Given the description of an element on the screen output the (x, y) to click on. 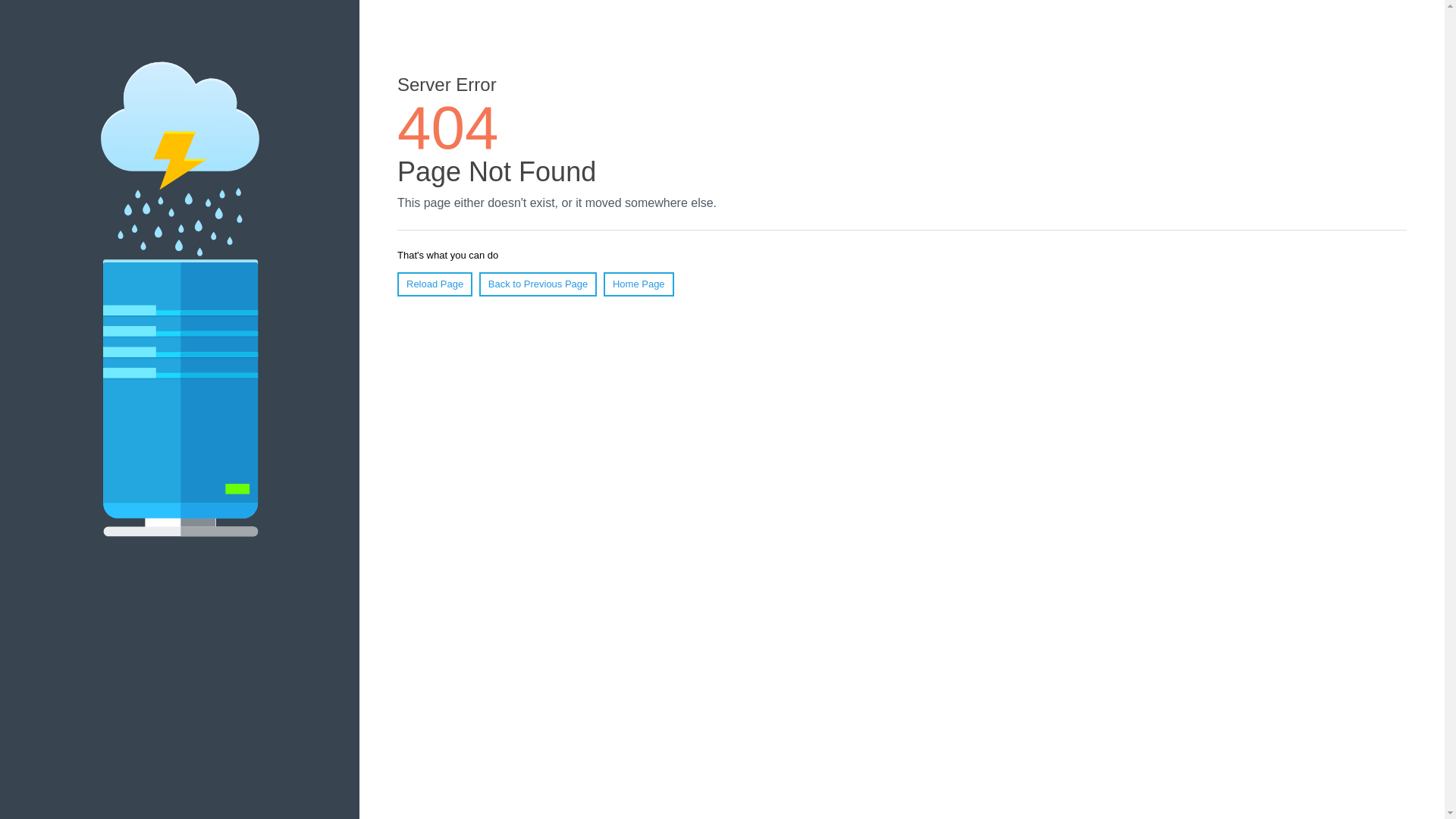
Back to Previous Page Element type: text (538, 284)
Home Page Element type: text (638, 284)
Reload Page Element type: text (434, 284)
